Given the description of an element on the screen output the (x, y) to click on. 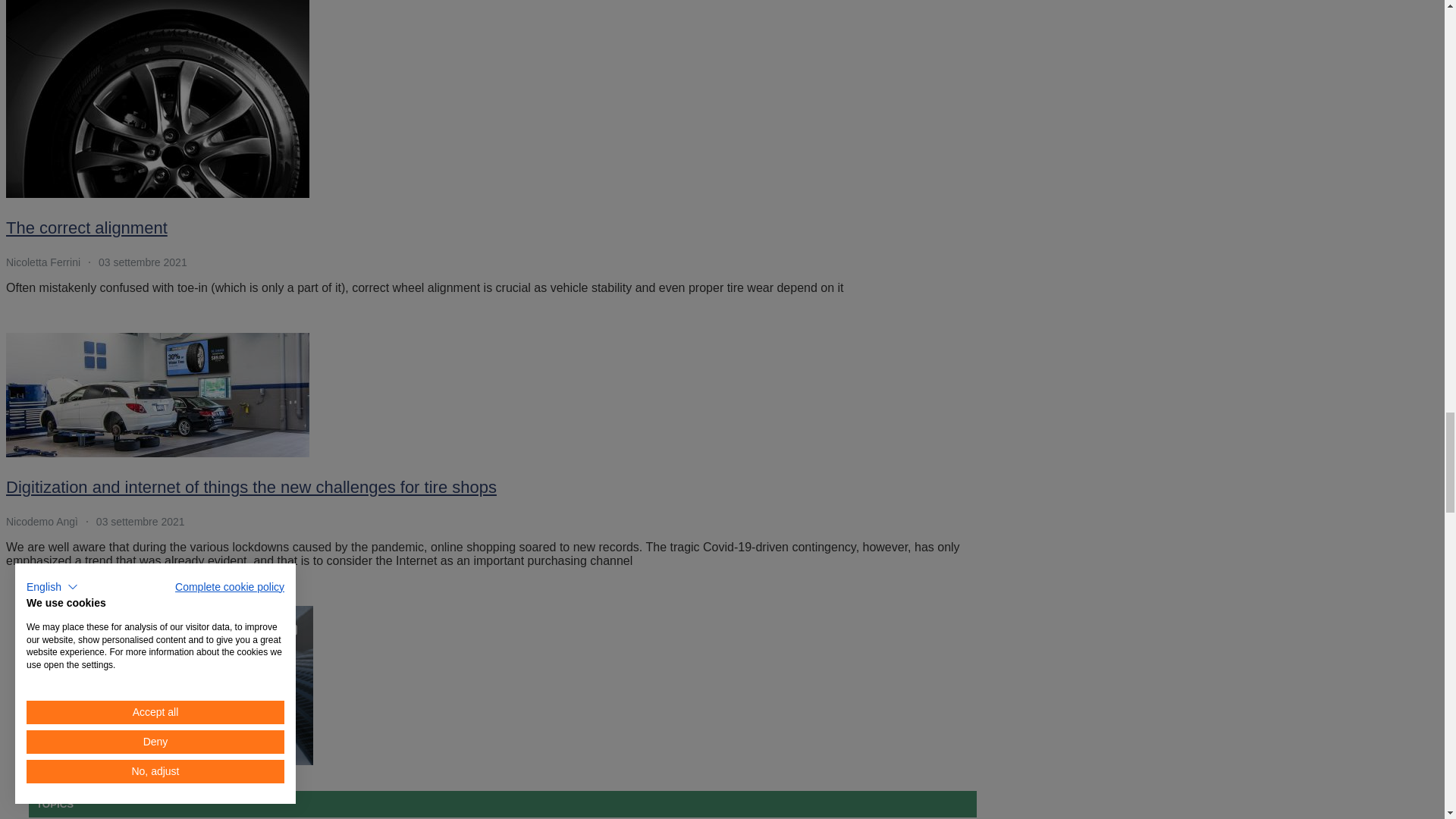
Federpneus (171, 685)
